Given the description of an element on the screen output the (x, y) to click on. 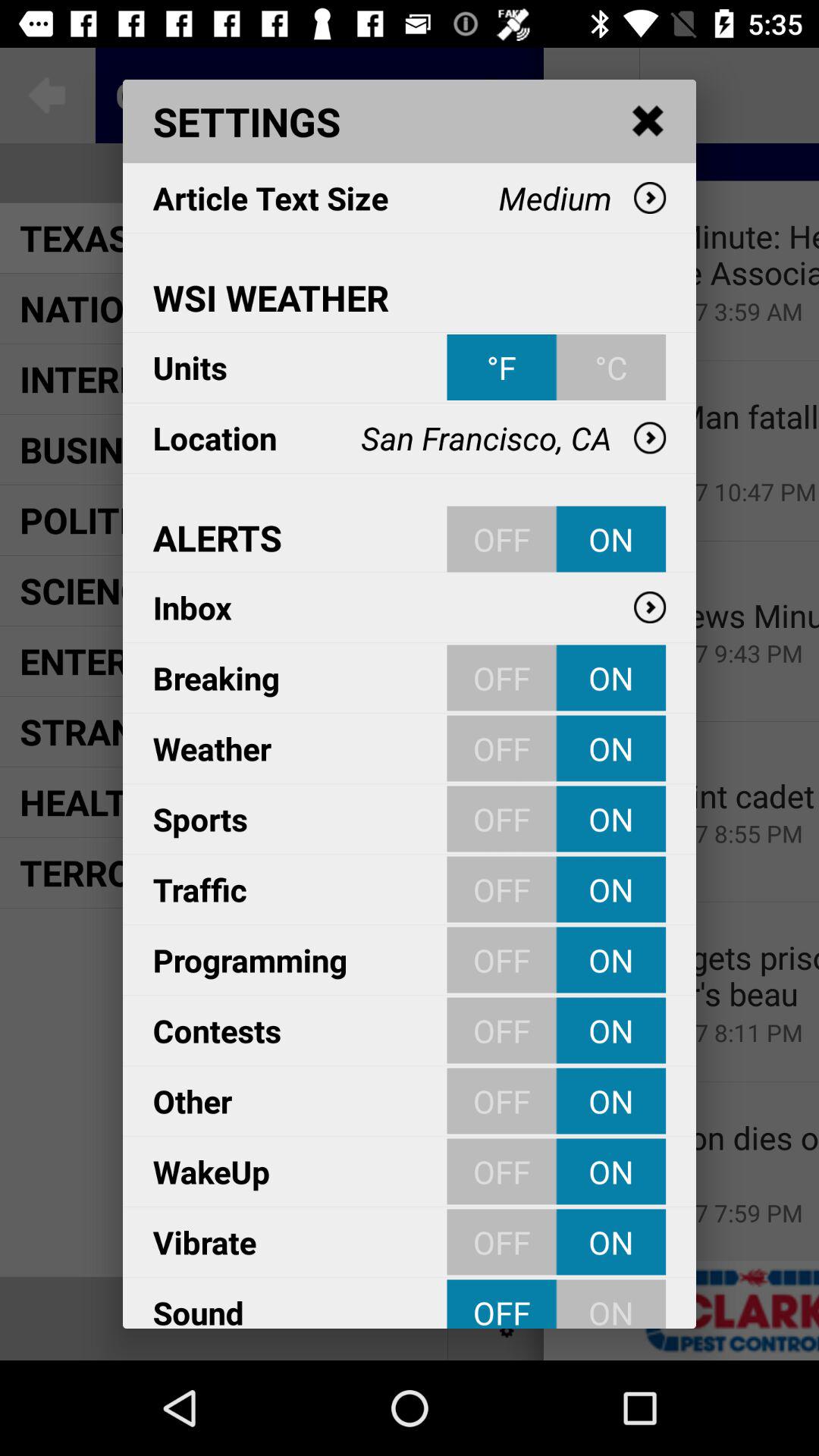
click the item above the medium (648, 121)
